Given the description of an element on the screen output the (x, y) to click on. 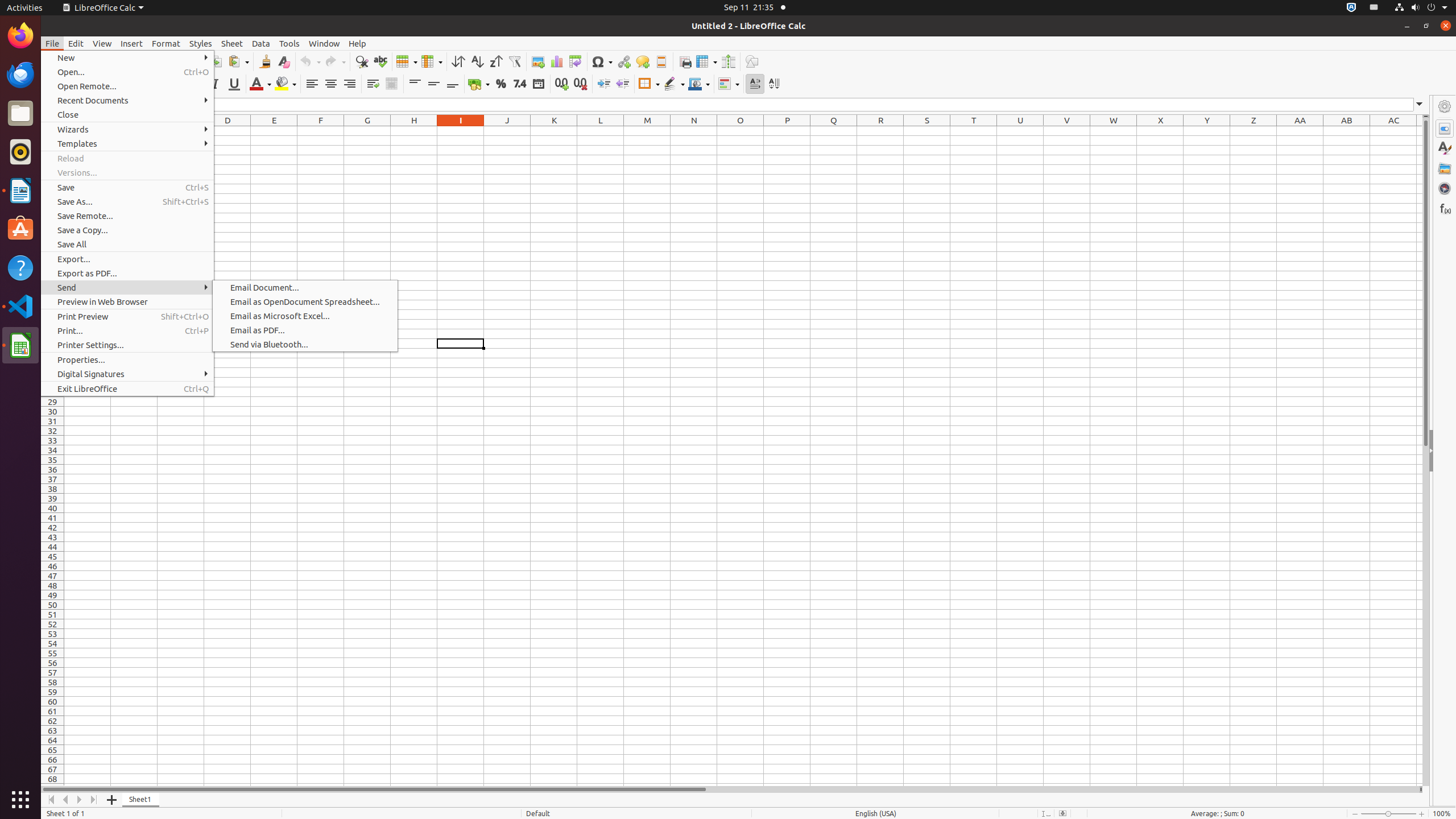
Export as PDF... Element type: menu-item (126, 273)
Move Right Element type: push-button (79, 799)
File Element type: menu (51, 43)
S1 Element type: table-cell (926, 130)
Align Left Element type: push-button (311, 83)
